Given the description of an element on the screen output the (x, y) to click on. 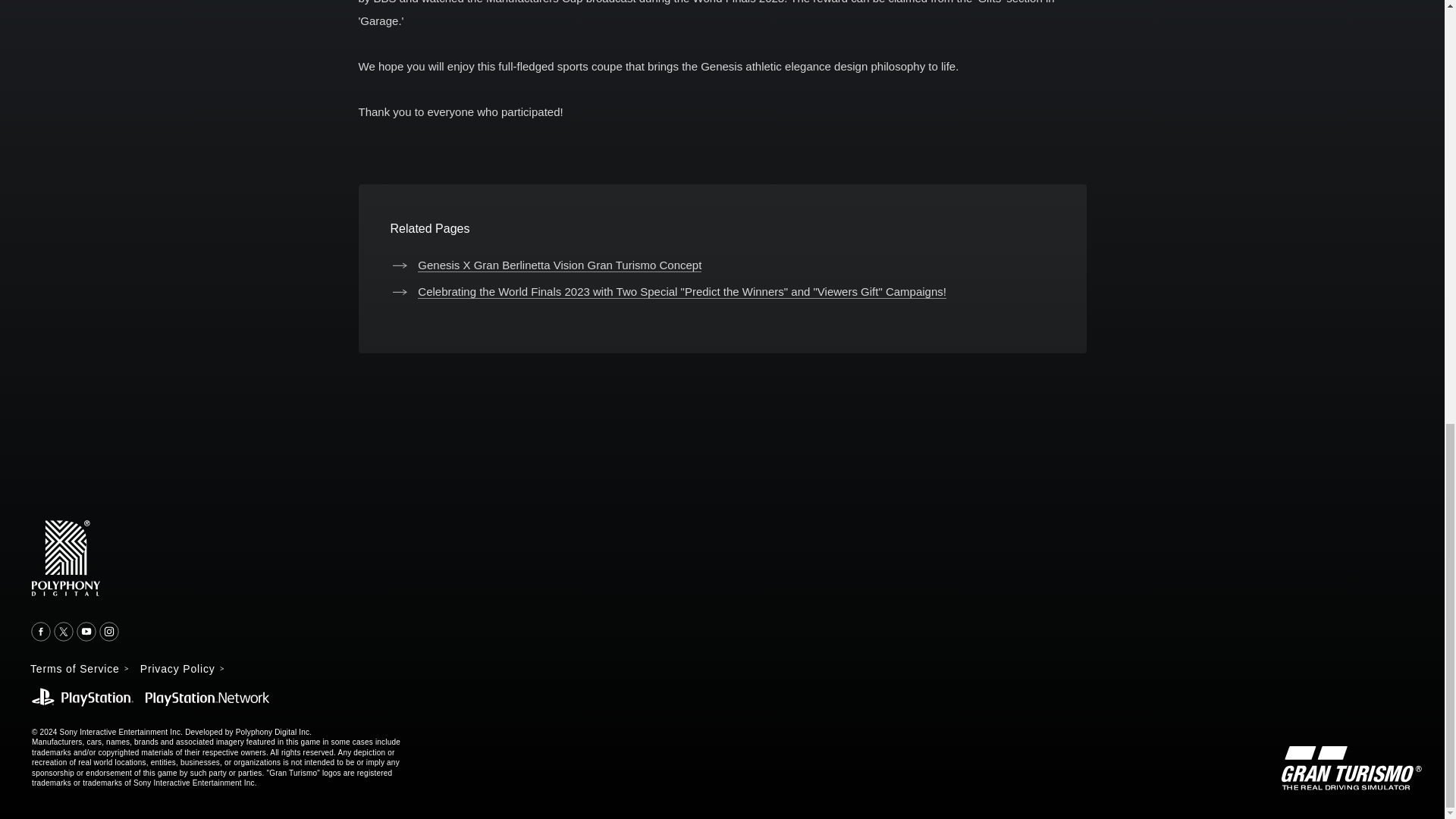
Privacy Policy (181, 668)
Genesis X Gran Berlinetta Vision Gran Turismo Concept (545, 265)
Terms of Service (79, 668)
